Given the description of an element on the screen output the (x, y) to click on. 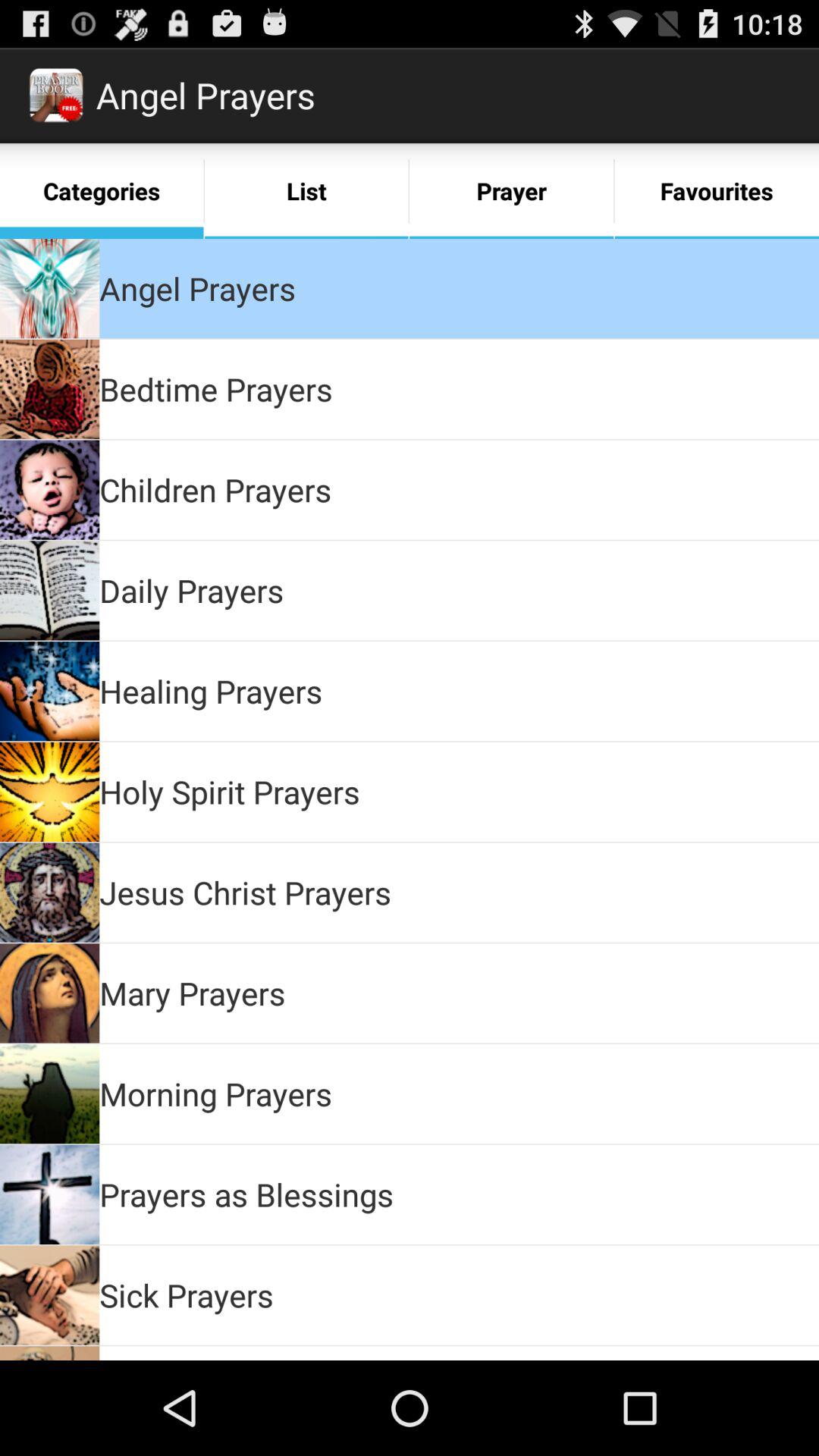
swipe until the children prayers icon (215, 489)
